Given the description of an element on the screen output the (x, y) to click on. 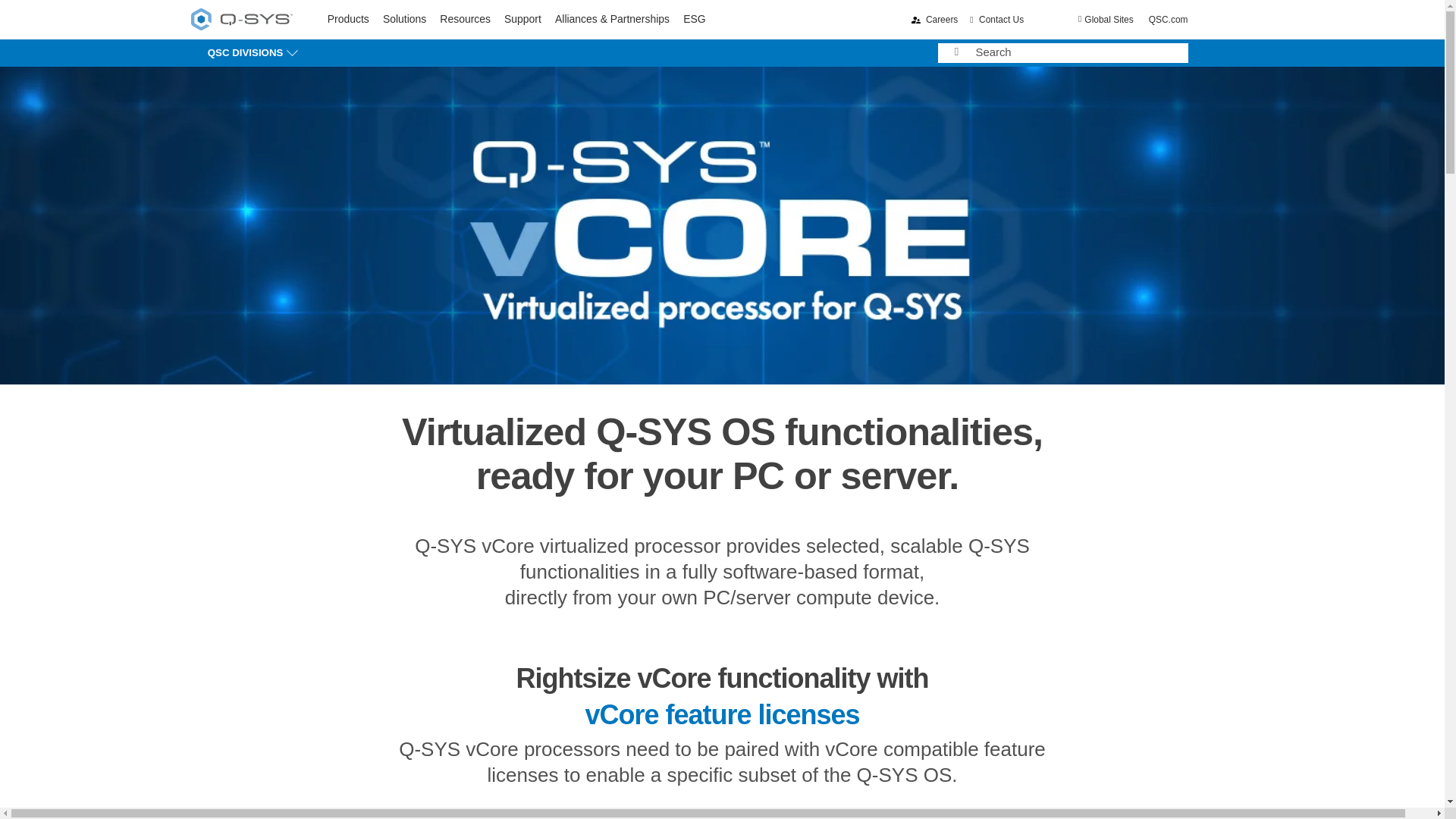
ESG (693, 19)
Contact Us (996, 19)
Resources (464, 19)
Products (348, 19)
Support (522, 19)
Q-SYS logo (241, 19)
Solutions (241, 21)
